Given the description of an element on the screen output the (x, y) to click on. 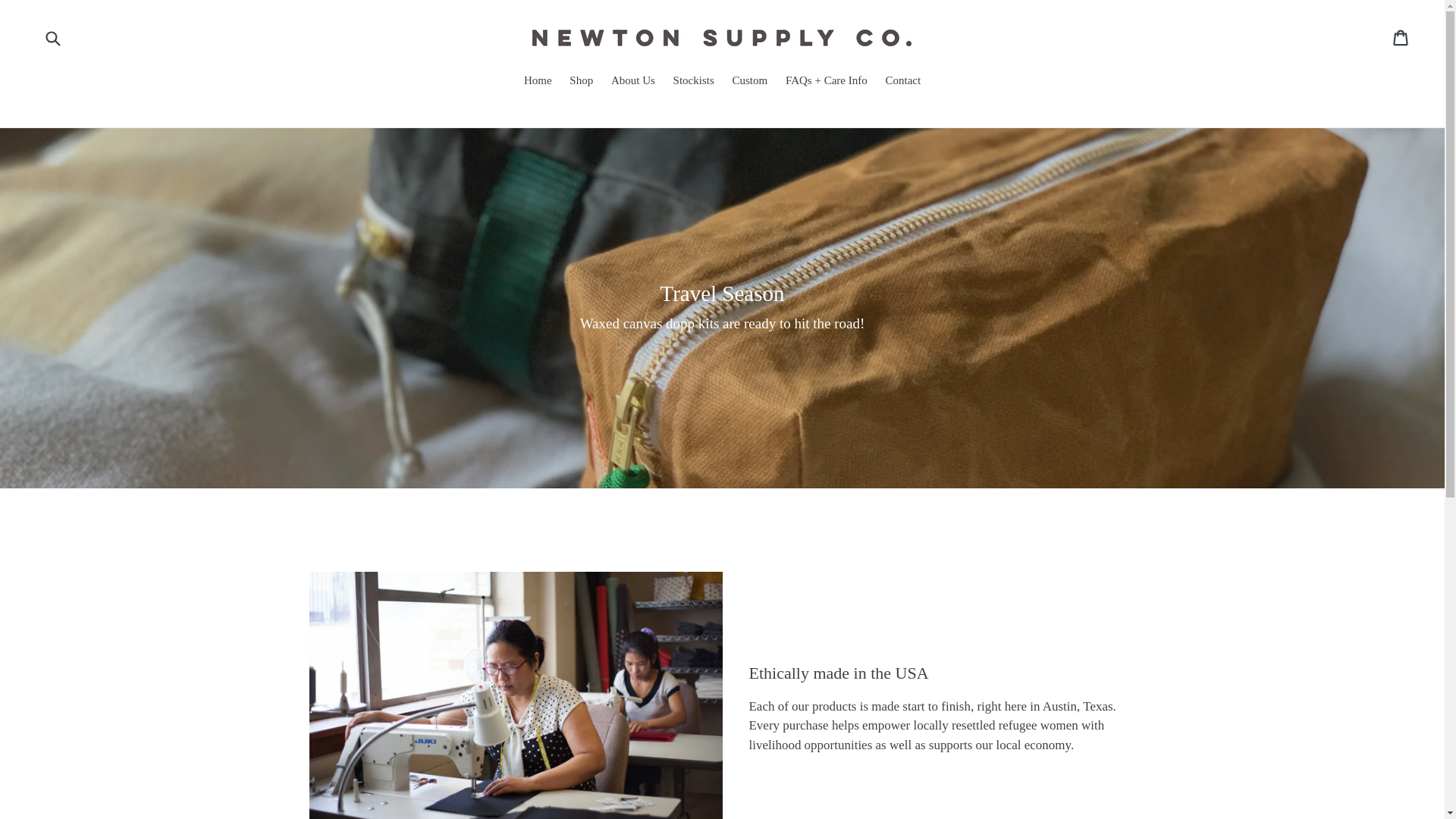
About Us (633, 81)
Contact (902, 81)
Stockists (693, 81)
Shop (580, 81)
Home (537, 81)
Custom (750, 81)
